Given the description of an element on the screen output the (x, y) to click on. 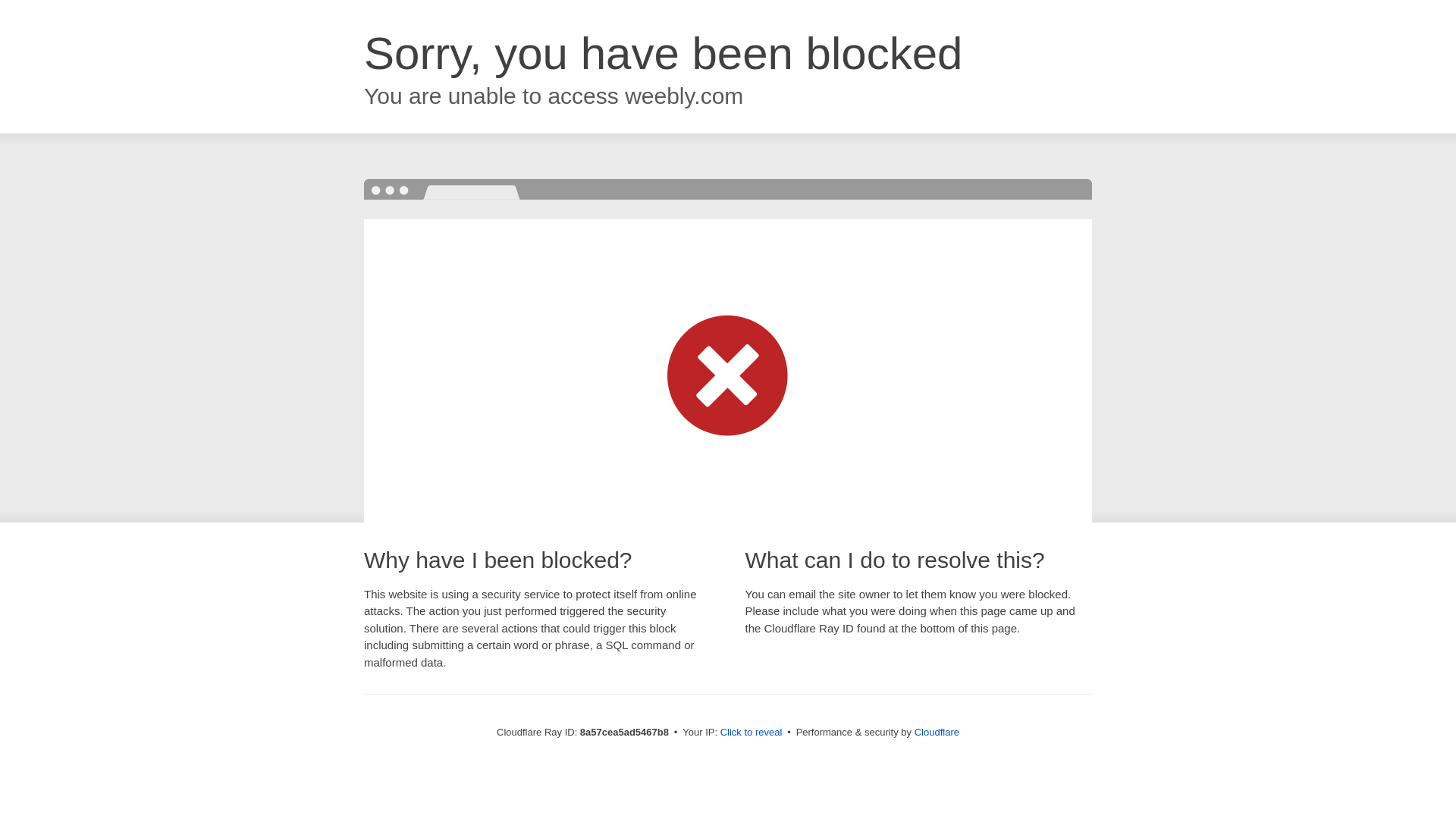
Click to reveal (751, 732)
Cloudflare (936, 731)
